Given the description of an element on the screen output the (x, y) to click on. 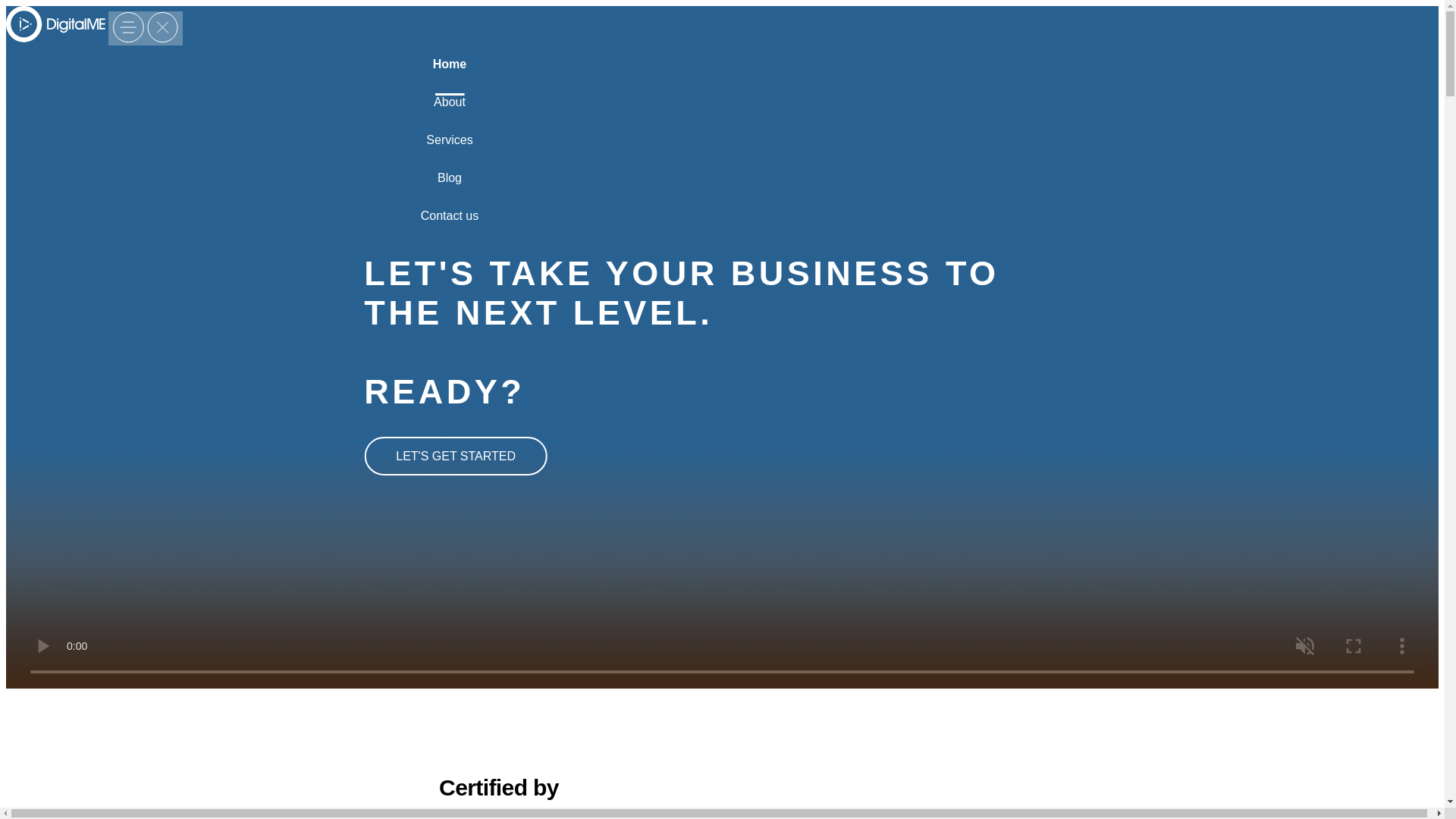
Blog (449, 190)
Services (448, 152)
Home (449, 76)
Contact us (449, 228)
About (449, 114)
LET'S GET STARTED (455, 455)
